Given the description of an element on the screen output the (x, y) to click on. 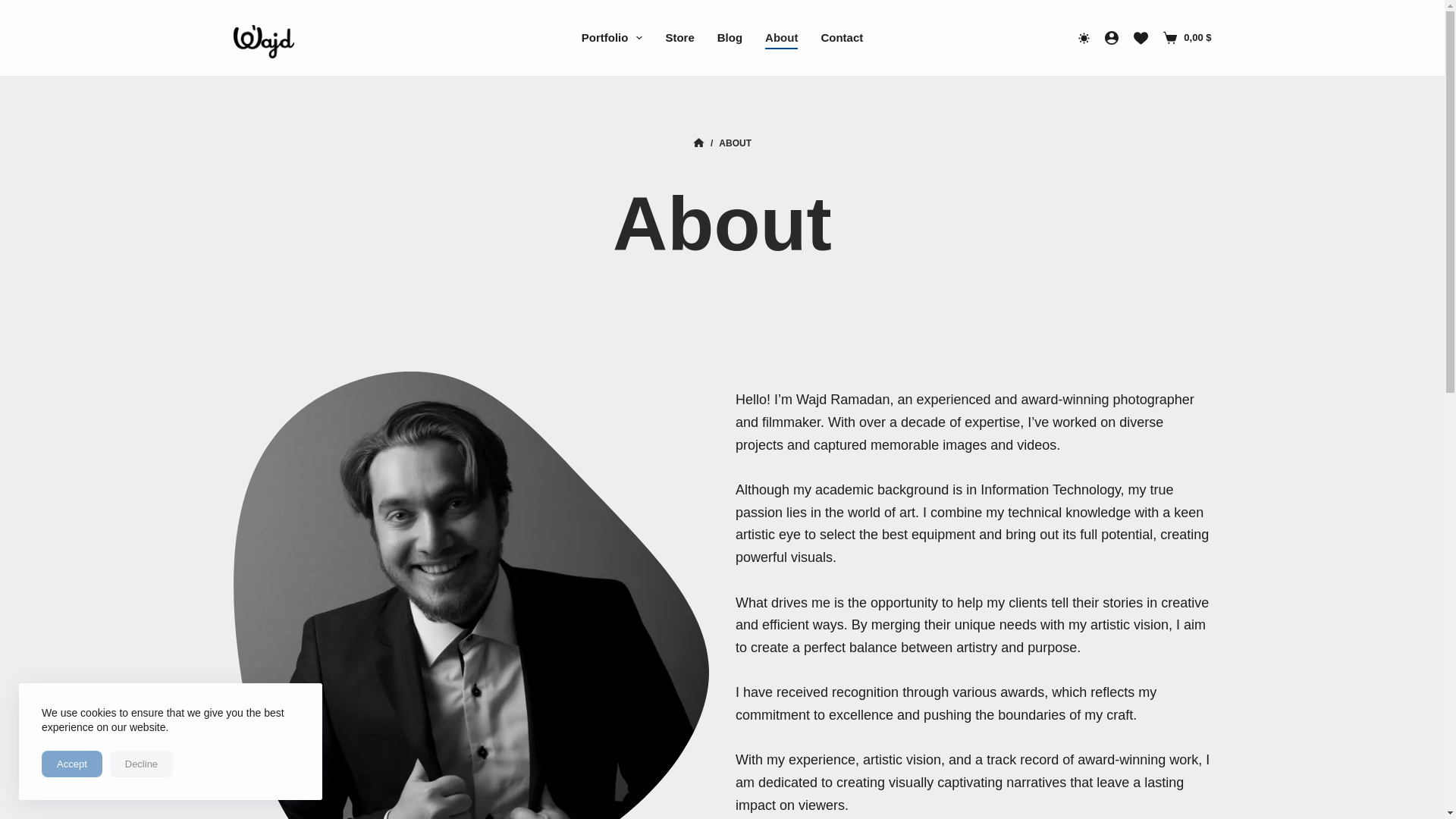
Skip to content (15, 7)
Decline (141, 764)
Accept (71, 764)
Contact (842, 37)
About (781, 37)
Portfolio (611, 37)
Store (678, 37)
About (721, 223)
Blog (730, 37)
